Given the description of an element on the screen output the (x, y) to click on. 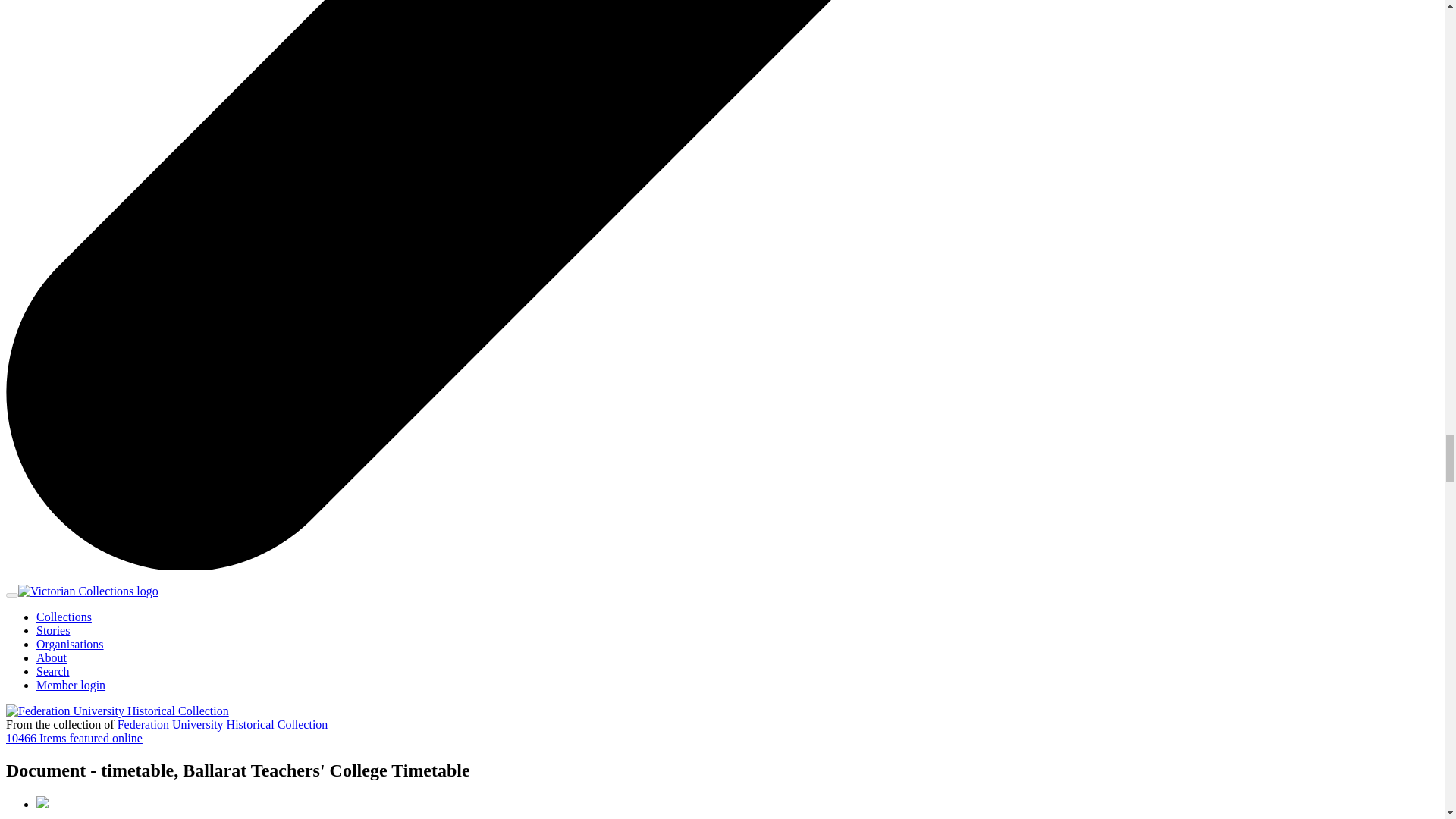
Search (52, 671)
Federation University Historical Collection (223, 724)
Stories (52, 630)
About (51, 657)
Collections (63, 616)
10466 Items featured online (73, 738)
Organisations (69, 644)
Member login (70, 684)
